Given the description of an element on the screen output the (x, y) to click on. 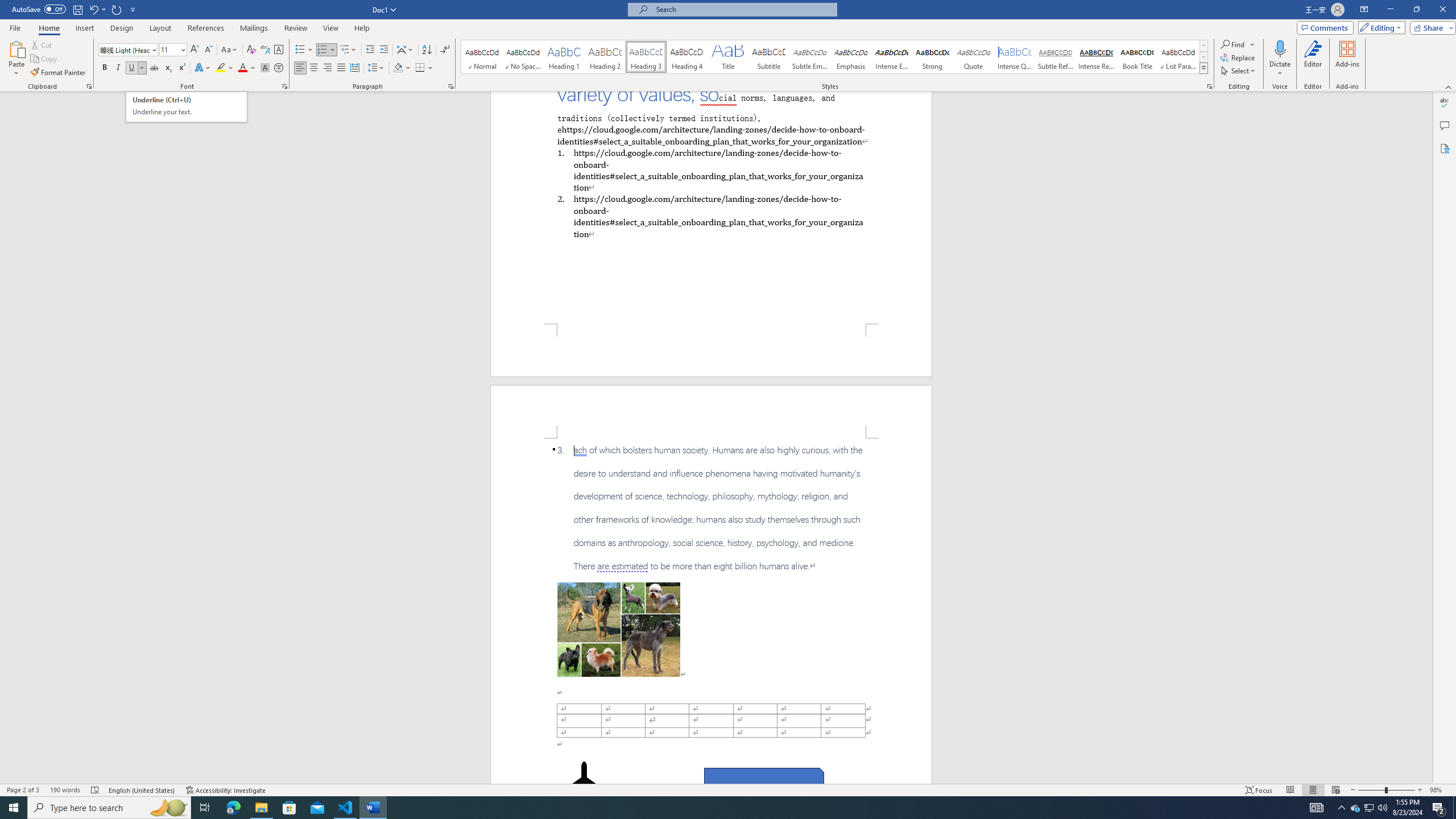
Repeat Underline Style (117, 9)
